Given the description of an element on the screen output the (x, y) to click on. 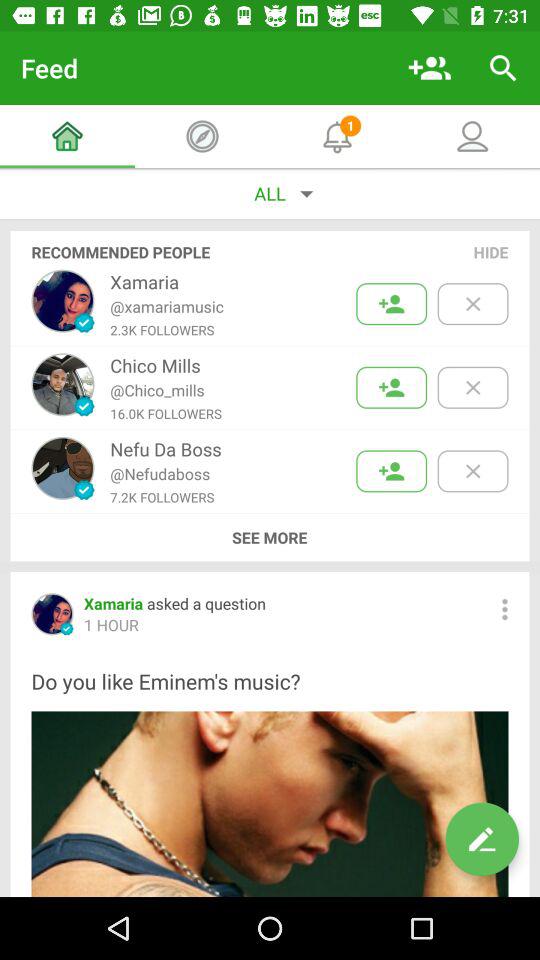
choose icon at the bottom right corner (482, 839)
